Given the description of an element on the screen output the (x, y) to click on. 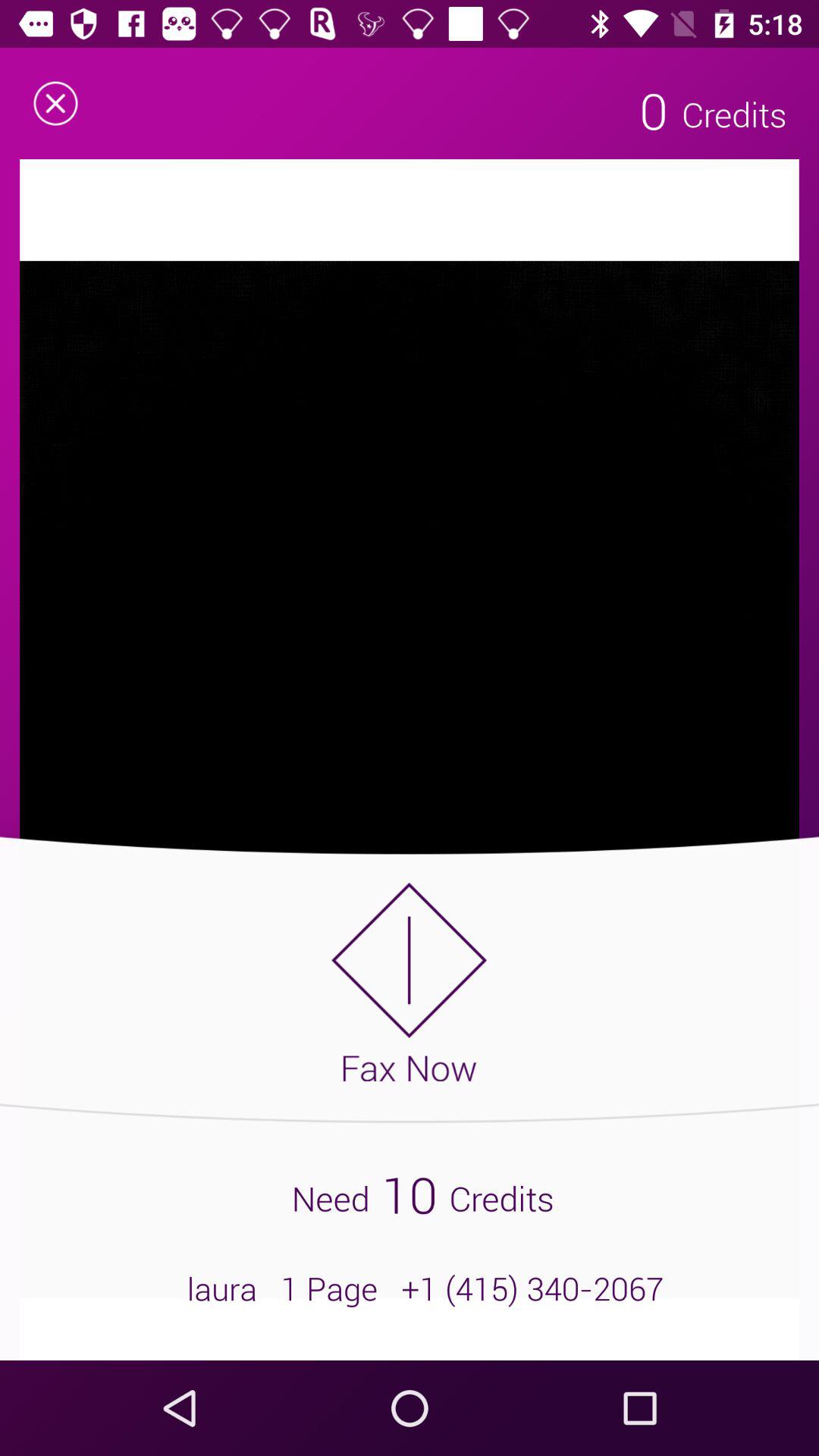
choose the app next to the credits app (653, 109)
